Given the description of an element on the screen output the (x, y) to click on. 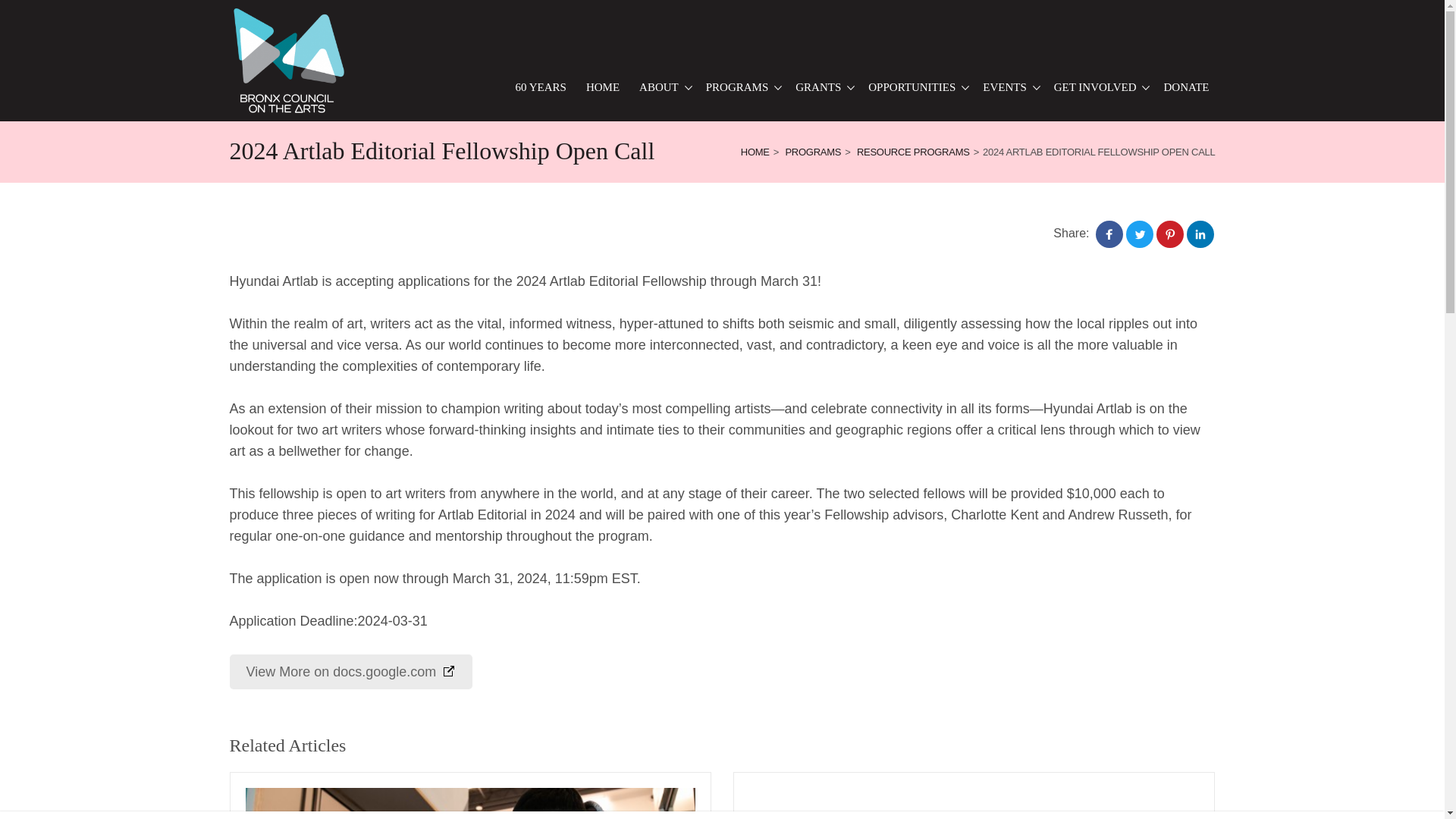
Twitter (1139, 234)
GRANTS (821, 87)
Facebook (1108, 234)
Pinterest (1169, 234)
PROGRAMS (741, 87)
LinkedIn (1199, 234)
60 YEARS (540, 87)
OPPORTUNITIES (915, 87)
